Given the description of an element on the screen output the (x, y) to click on. 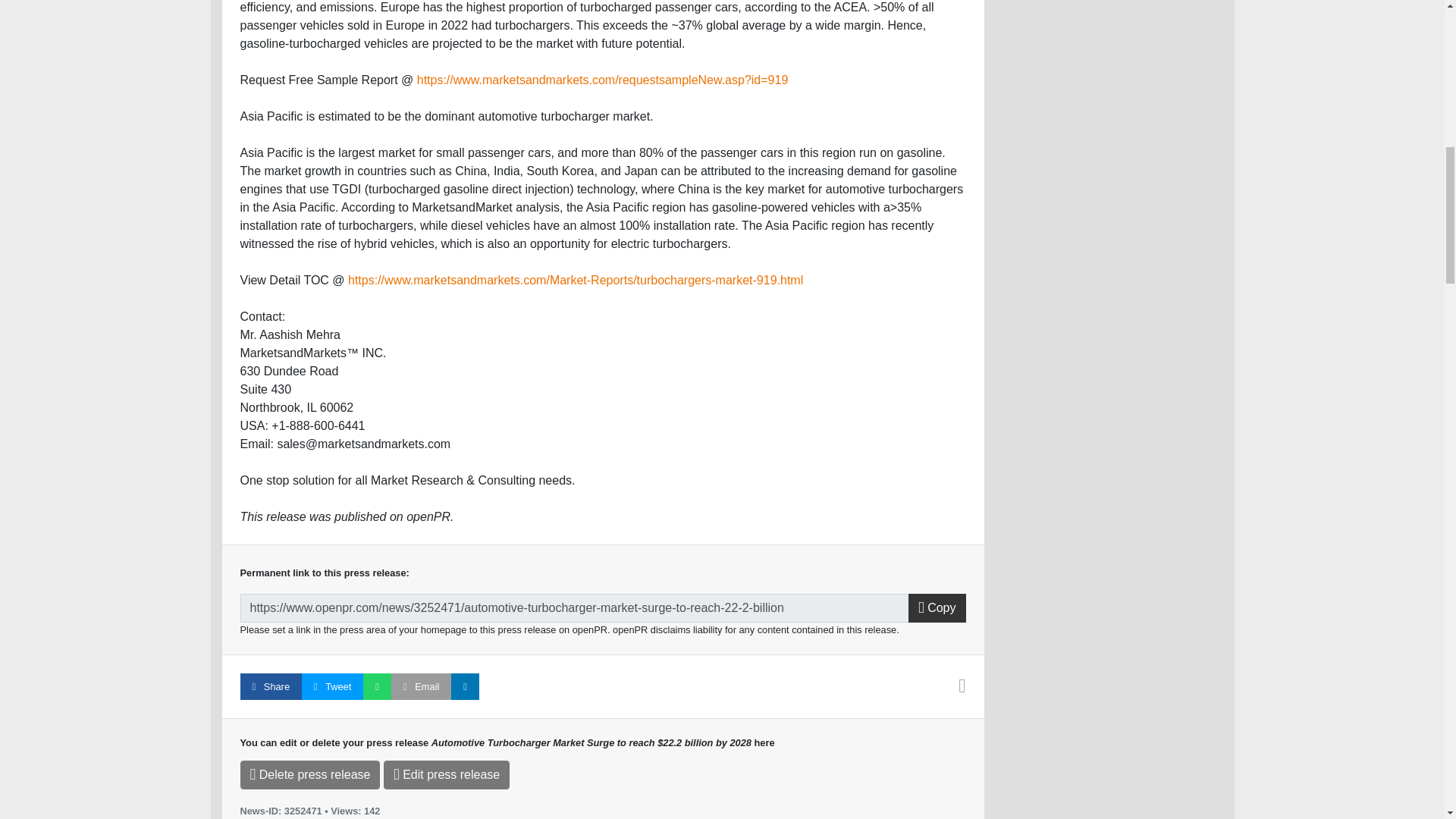
Facebook (270, 686)
Permalink (574, 607)
WhatsApp (376, 686)
LinkedIn (465, 686)
Email (421, 686)
